Given the description of an element on the screen output the (x, y) to click on. 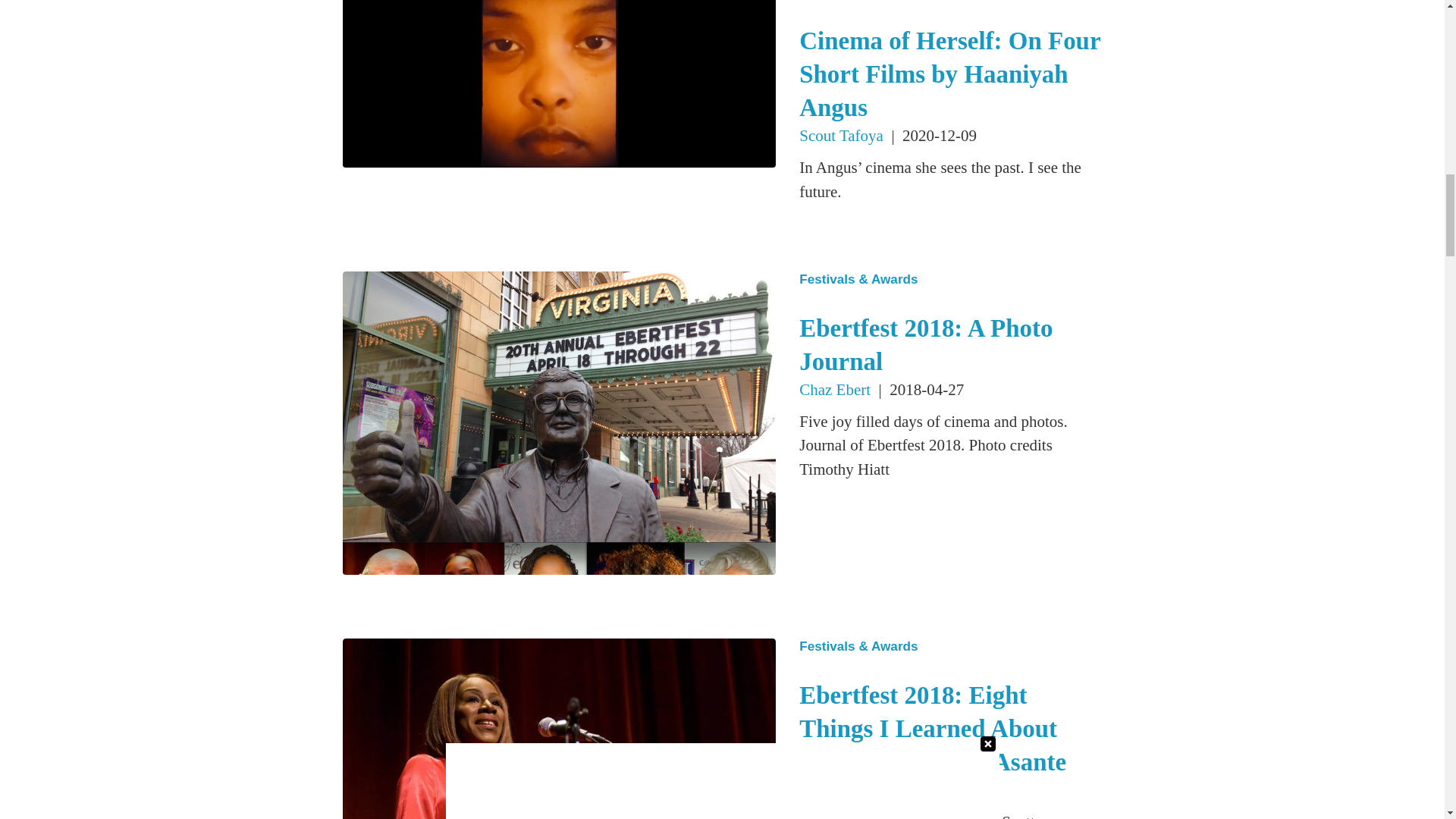
Ebertfest 2018: A Photo Journal (925, 344)
Scout Tafoya (841, 135)
Cinema of Herself: On Four Short Films by Haaniyah Angus (949, 74)
Chaz Ebert (834, 389)
